Given the description of an element on the screen output the (x, y) to click on. 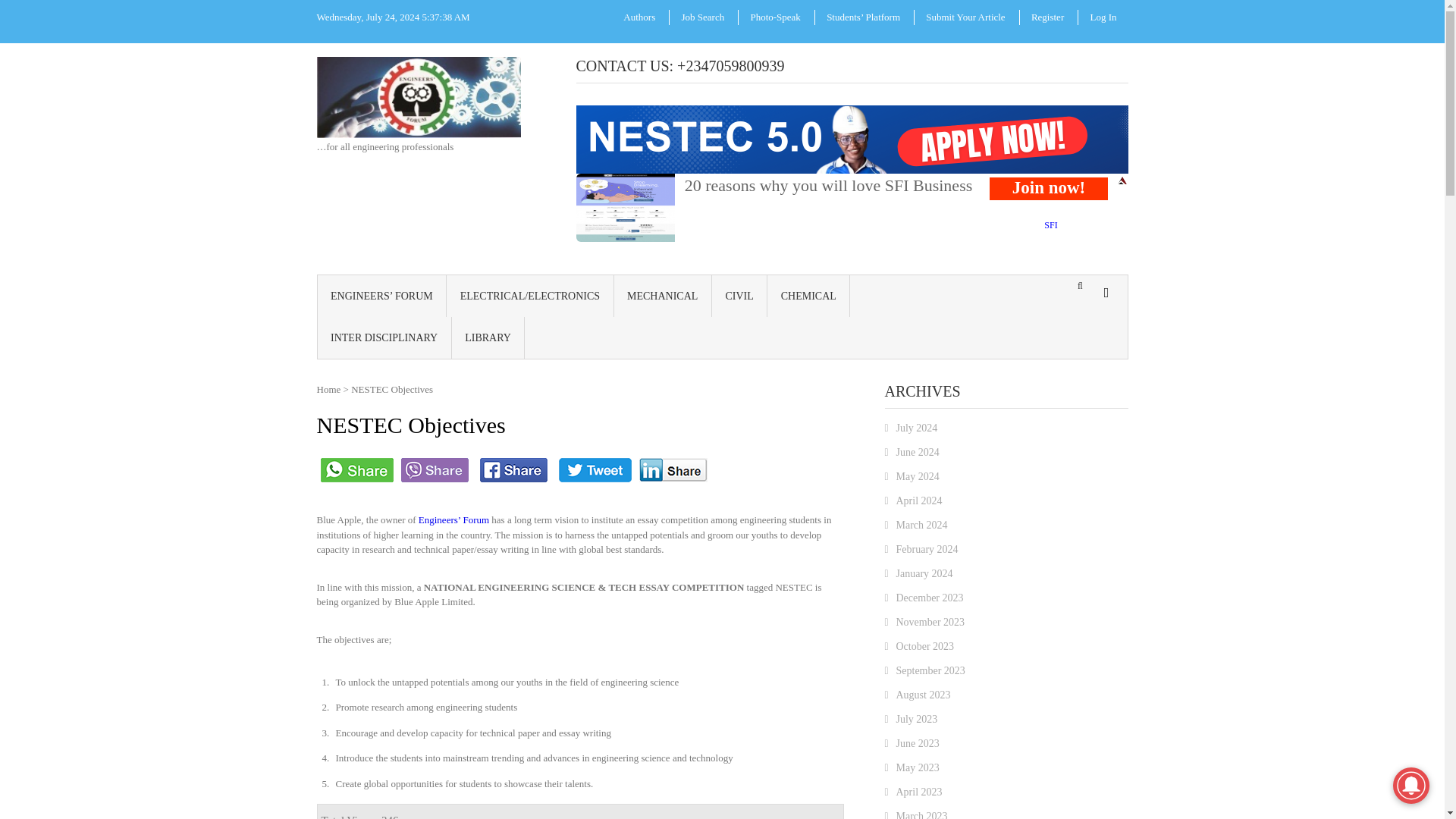
Log In (1102, 16)
Submit Your Article (965, 16)
Photo-Speak (774, 16)
MECHANICAL (662, 295)
Authors (638, 16)
Register (1047, 16)
Job Search (702, 16)
CHEMICAL (808, 295)
INTER DISCIPLINARY (384, 337)
CIVIL (739, 295)
